Given the description of an element on the screen output the (x, y) to click on. 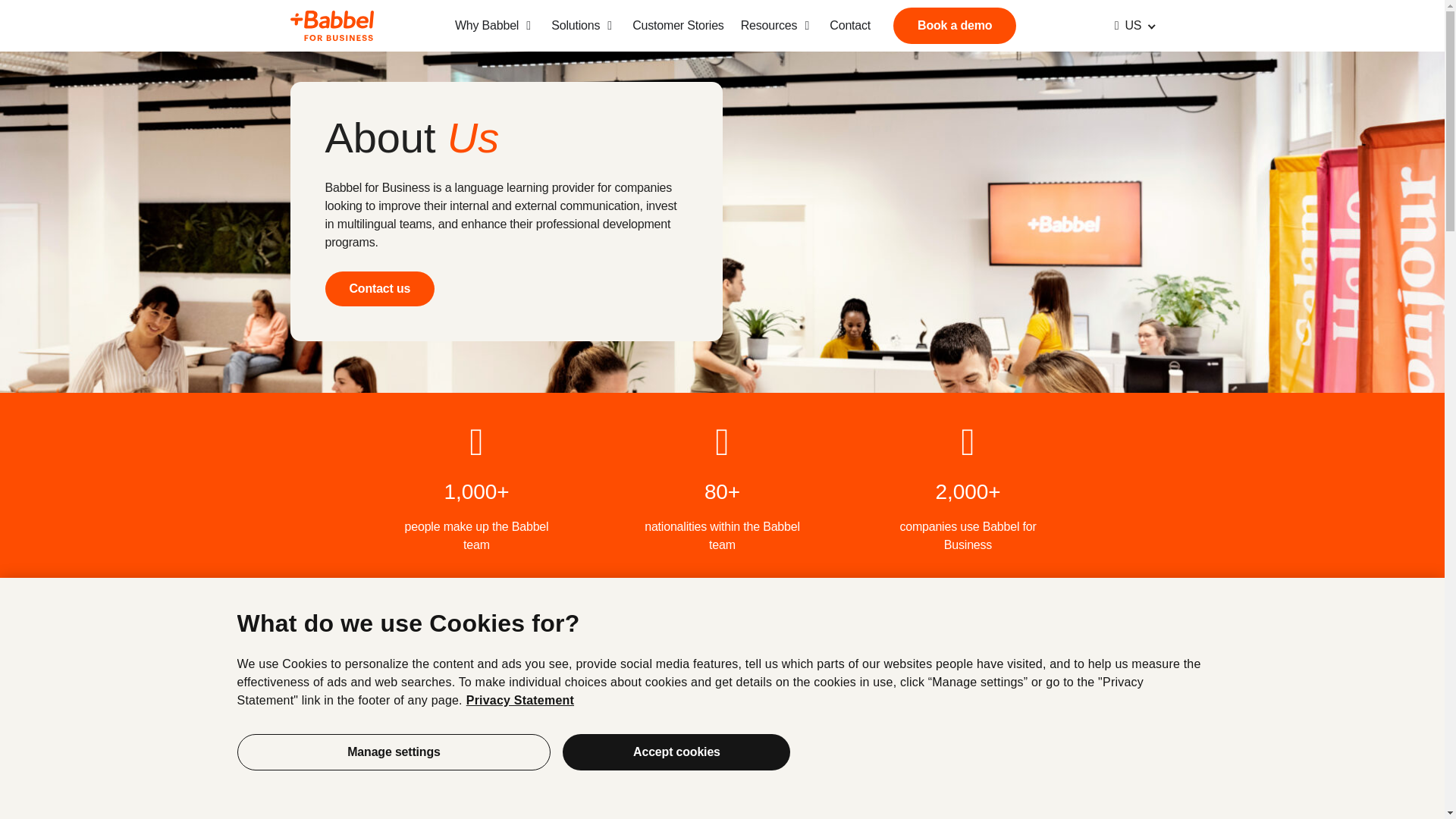
US (1128, 25)
Book a demo (954, 25)
Customer Stories (677, 25)
Contact us (378, 288)
Contact (849, 25)
